Given the description of an element on the screen output the (x, y) to click on. 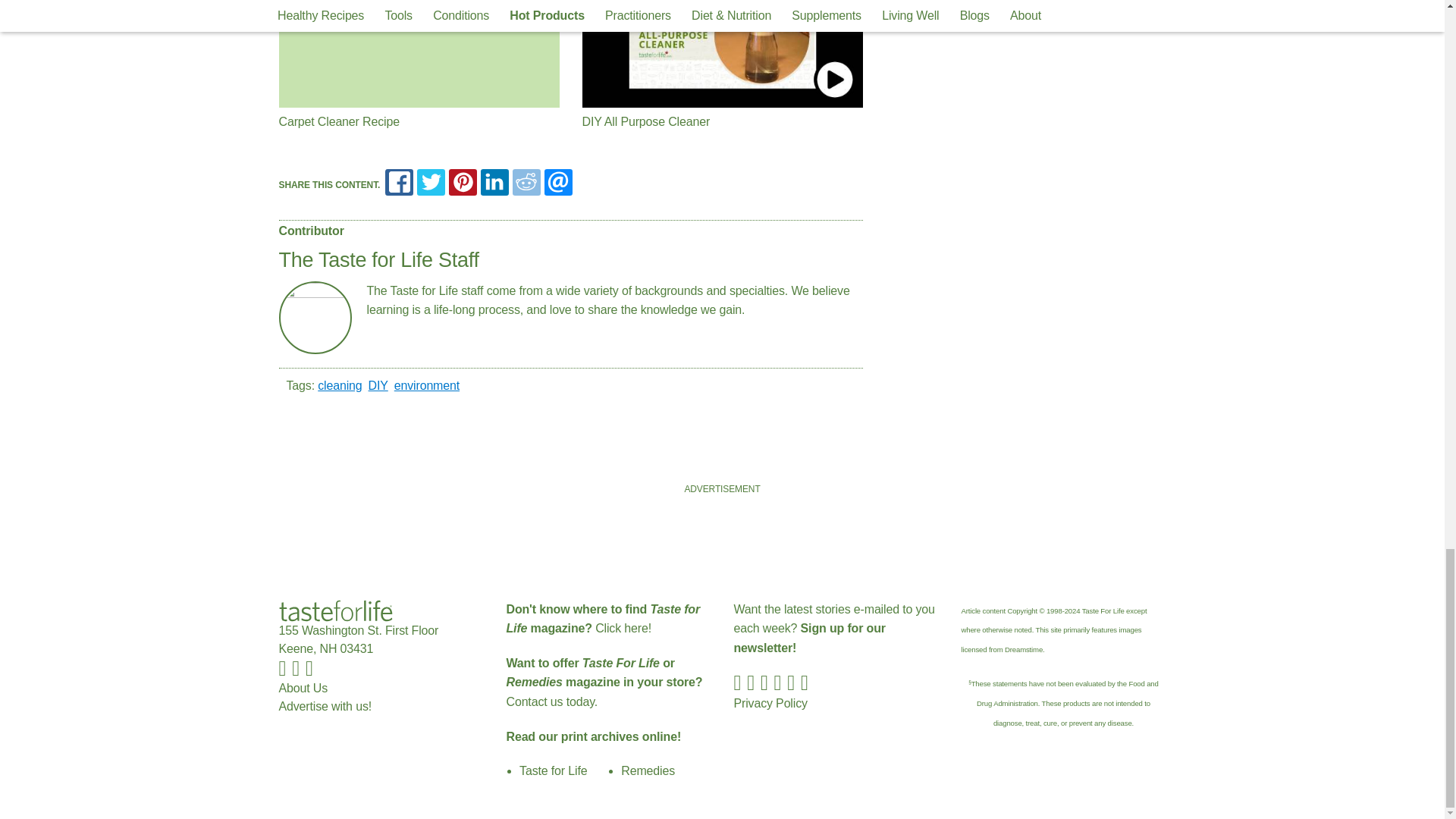
Taste for Life (336, 610)
Carpet Cleaner Recipe (419, 53)
